Given the description of an element on the screen output the (x, y) to click on. 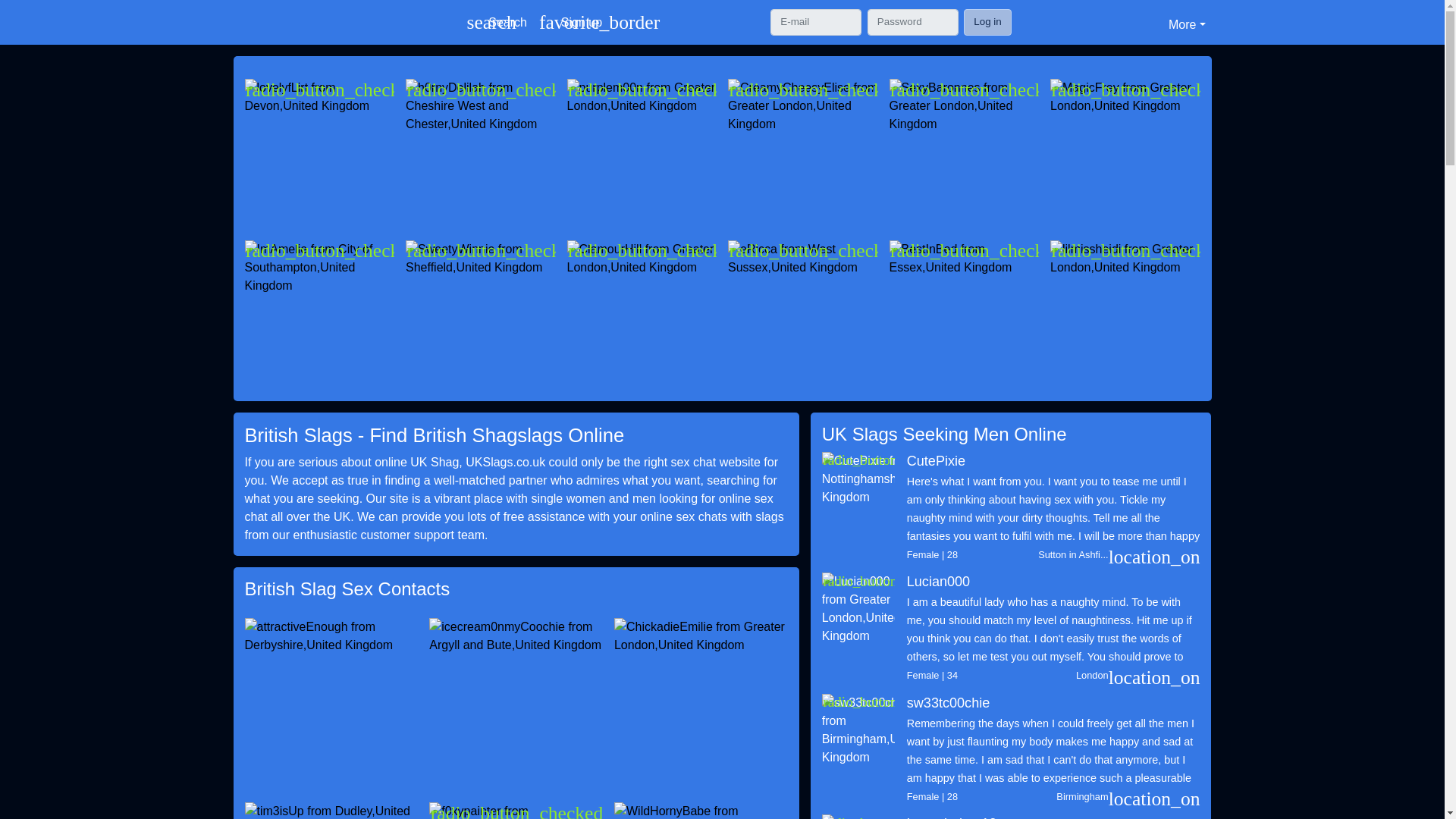
Log in (496, 22)
More (987, 22)
